Given the description of an element on the screen output the (x, y) to click on. 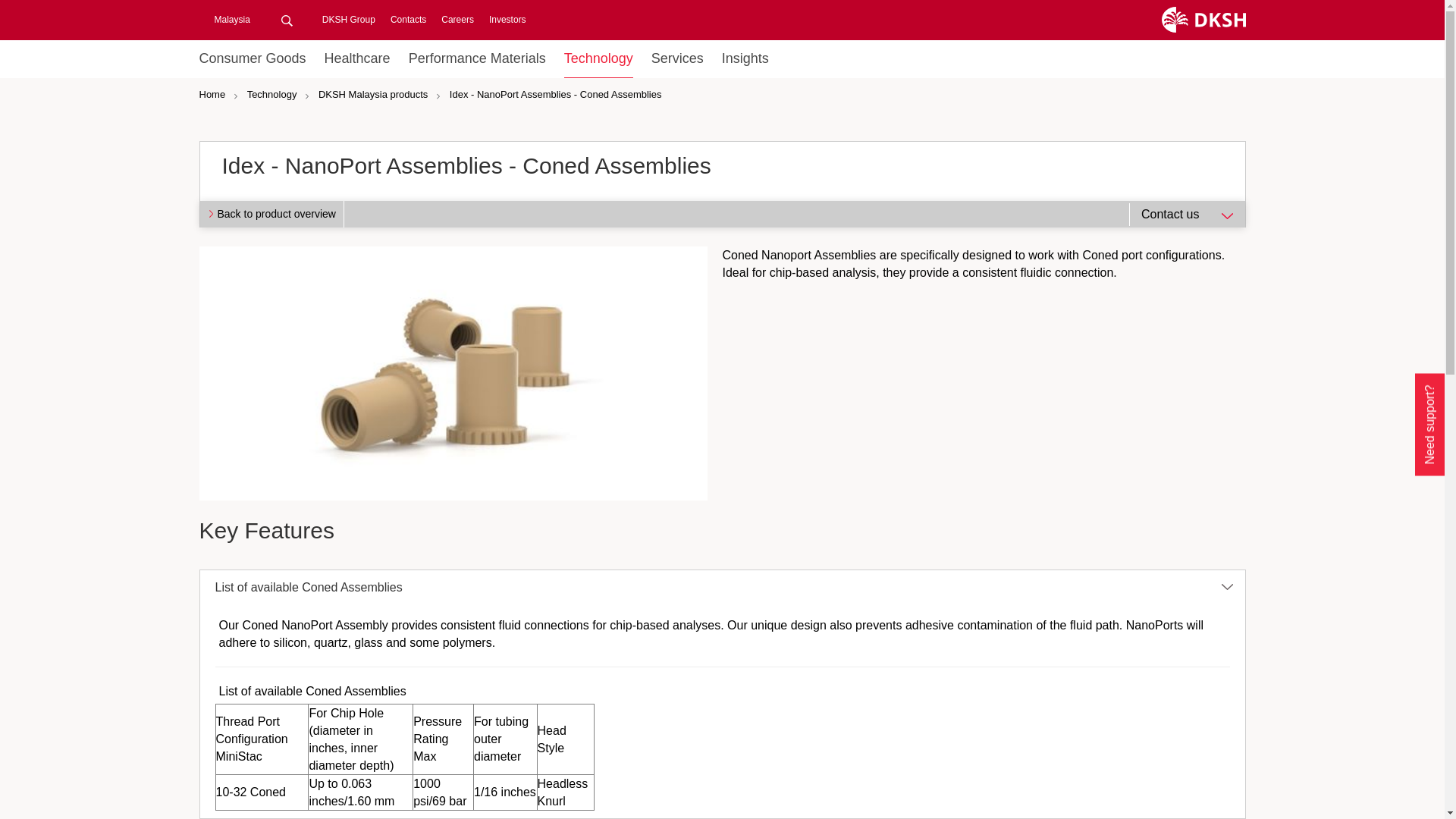
Idex - NanoPort Assemblies - Coned Assemblies (456, 373)
Search (286, 20)
